Given the description of an element on the screen output the (x, y) to click on. 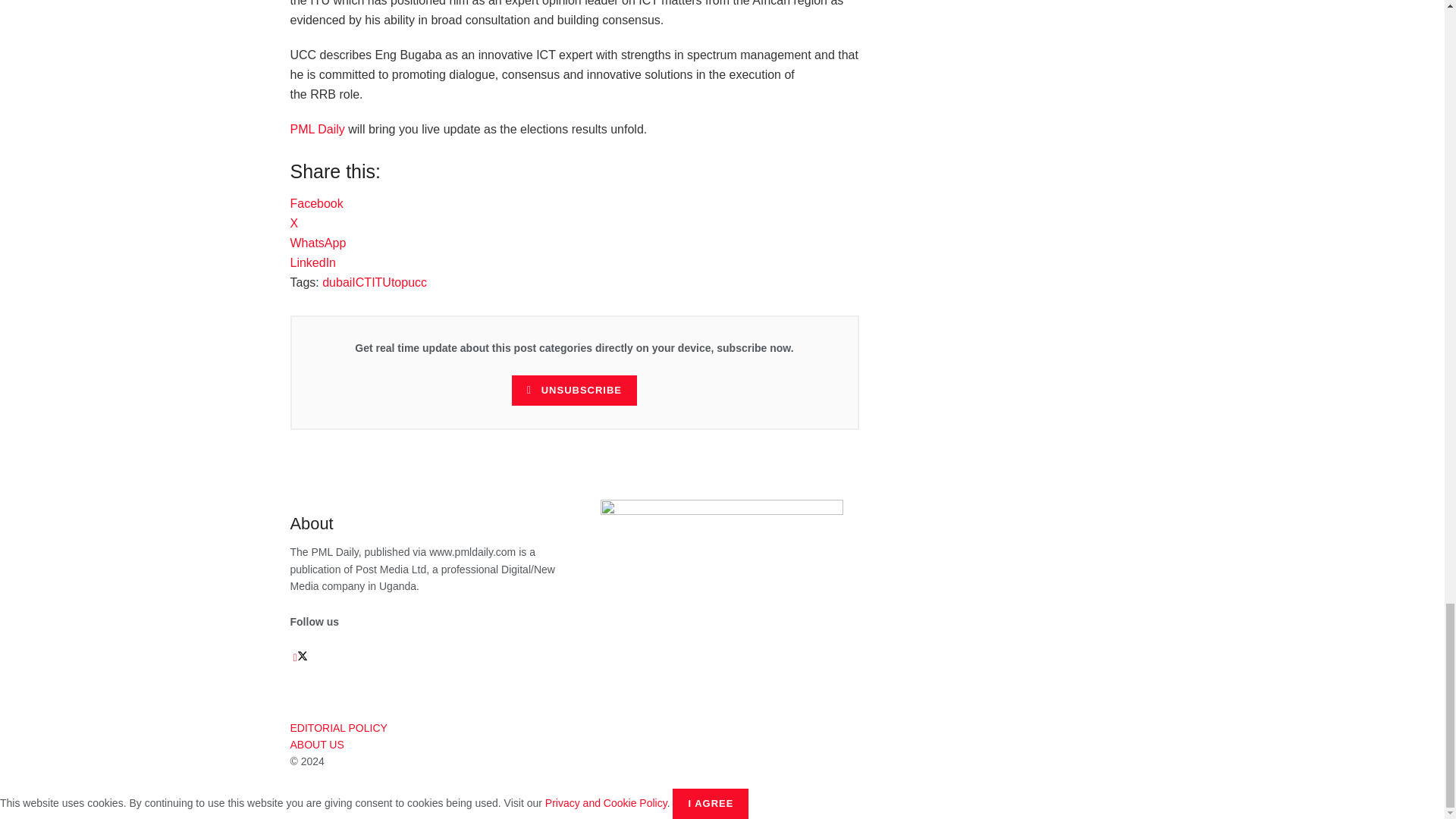
Click to share on Facebook (315, 203)
Click to share on WhatsApp (317, 242)
Click to share on LinkedIn (312, 262)
Click to share on X (293, 223)
